Given the description of an element on the screen output the (x, y) to click on. 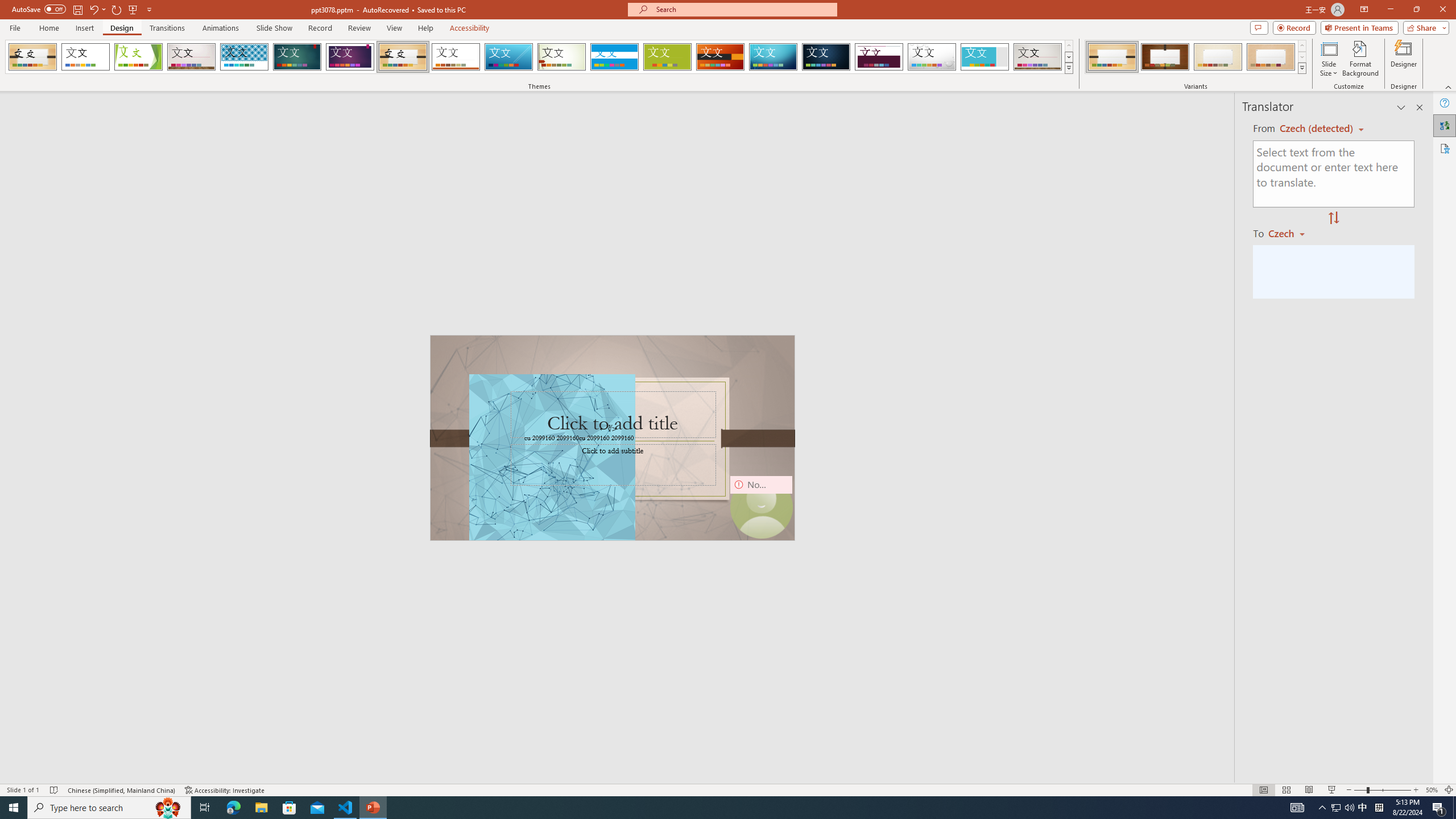
Slice (508, 56)
Zoom 50% (1431, 790)
Wisp (561, 56)
An abstract genetic concept (612, 437)
TextBox 61 (611, 438)
Retrospect (455, 56)
Organic (403, 56)
Organic Variant 2 (1164, 56)
Facet (138, 56)
